Given the description of an element on the screen output the (x, y) to click on. 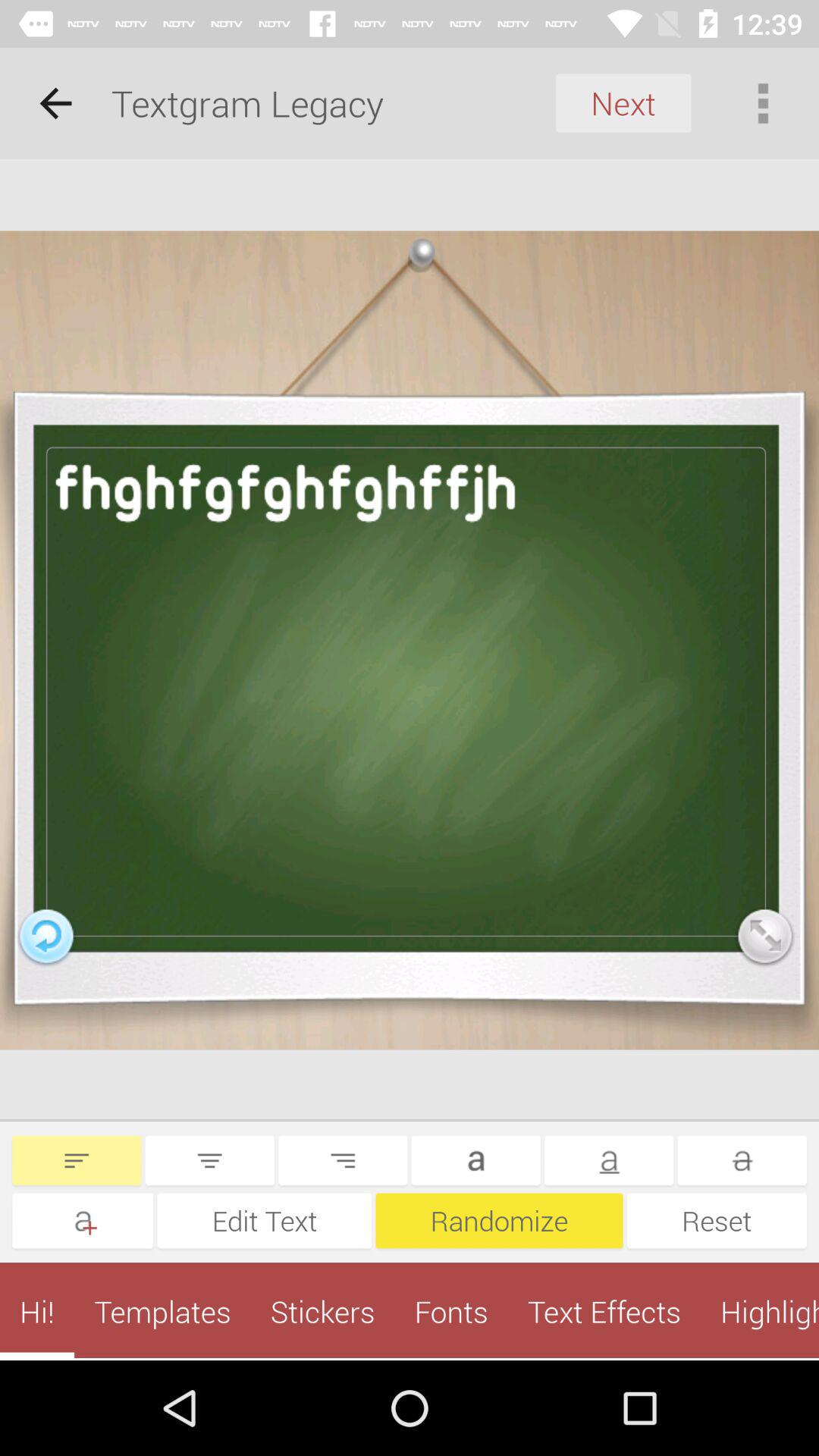
underline text (608, 1160)
